Given the description of an element on the screen output the (x, y) to click on. 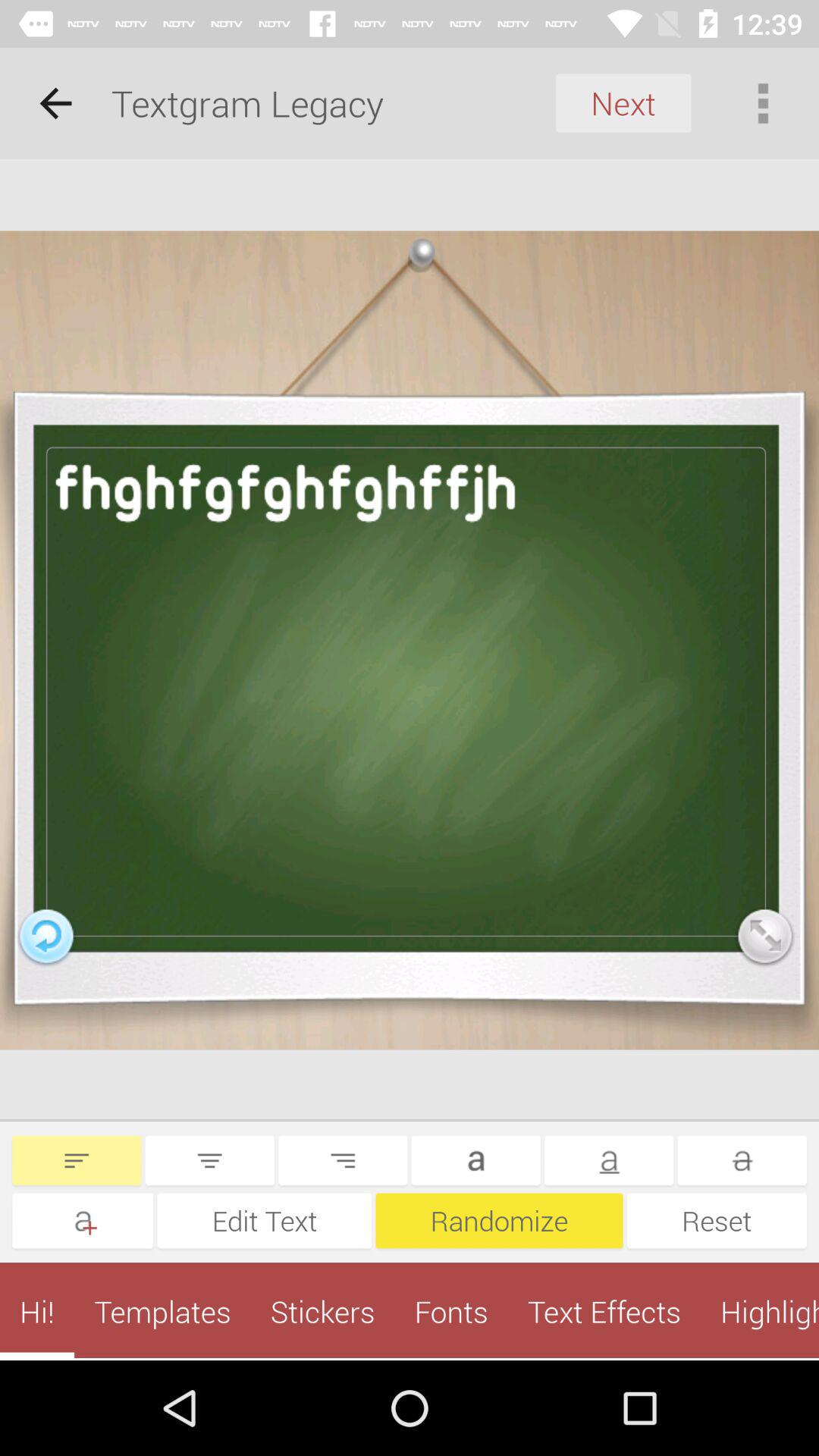
underline text (608, 1160)
